Given the description of an element on the screen output the (x, y) to click on. 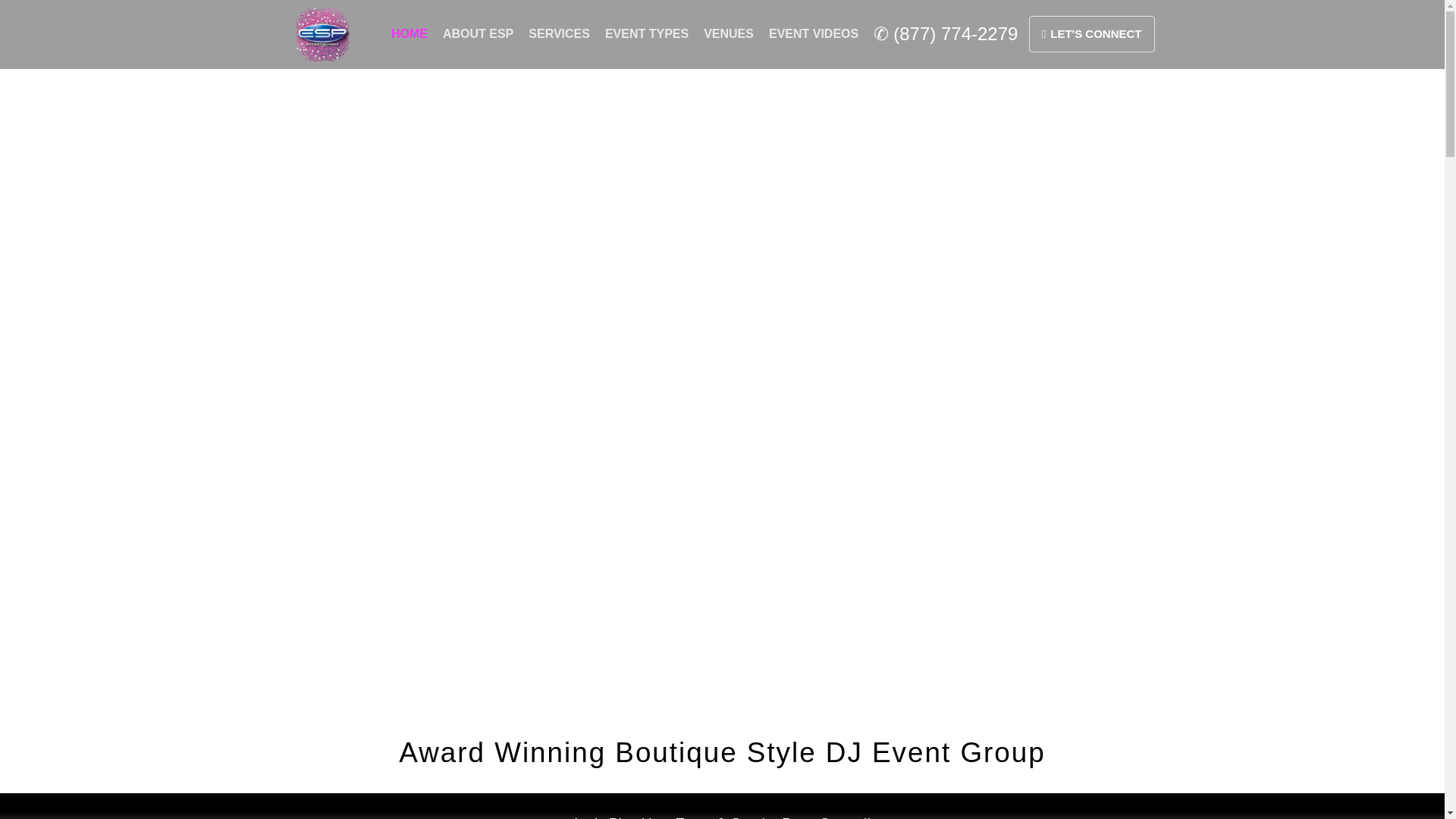
HOME (409, 33)
ABOUT ESP (478, 33)
VENUES (728, 33)
EVENT VIDEOS (813, 33)
EVENT TYPES (645, 33)
SERVICES (558, 33)
LET'S CONNECT (1091, 33)
Award Winning Boutique Style DJ Event Group (721, 752)
